Given the description of an element on the screen output the (x, y) to click on. 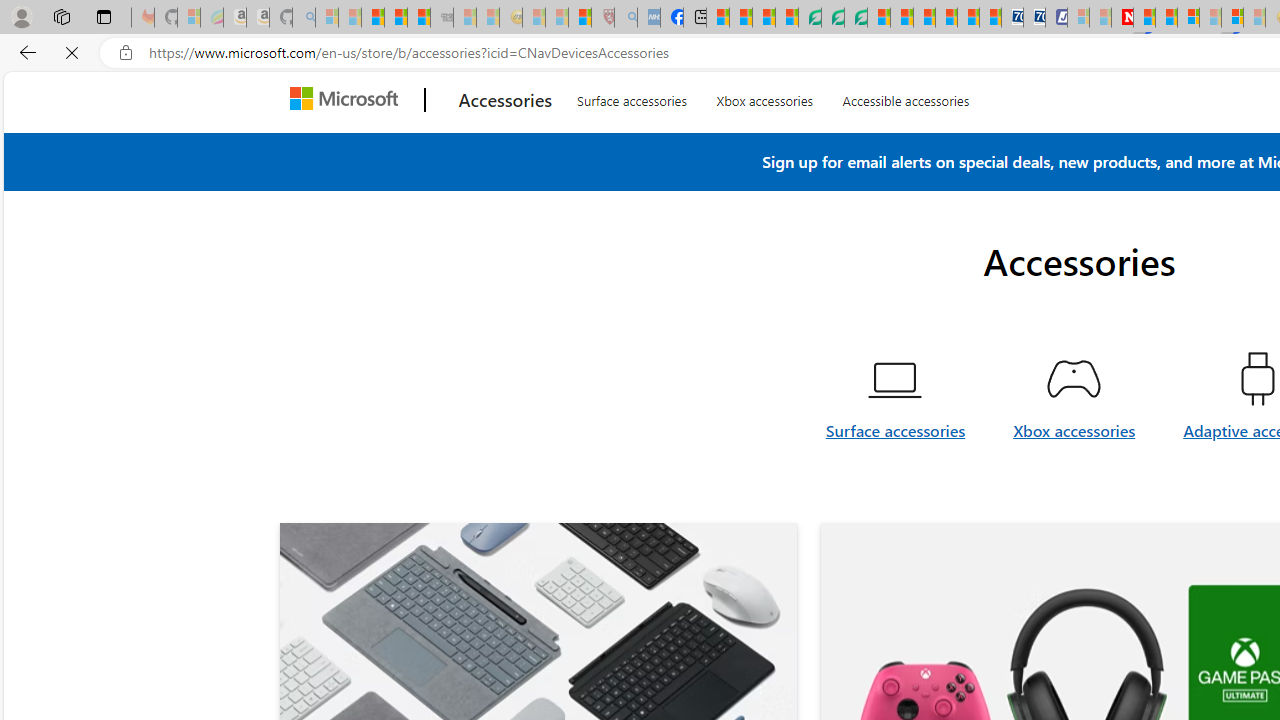
Microsoft Word - consumer-privacy address update 2.2021 (855, 17)
Xbox accessories (1074, 478)
Surface accessories (895, 442)
Surface accessories (895, 478)
New Report Confirms 2023 Was Record Hot | Watch (419, 17)
